Given the description of an element on the screen output the (x, y) to click on. 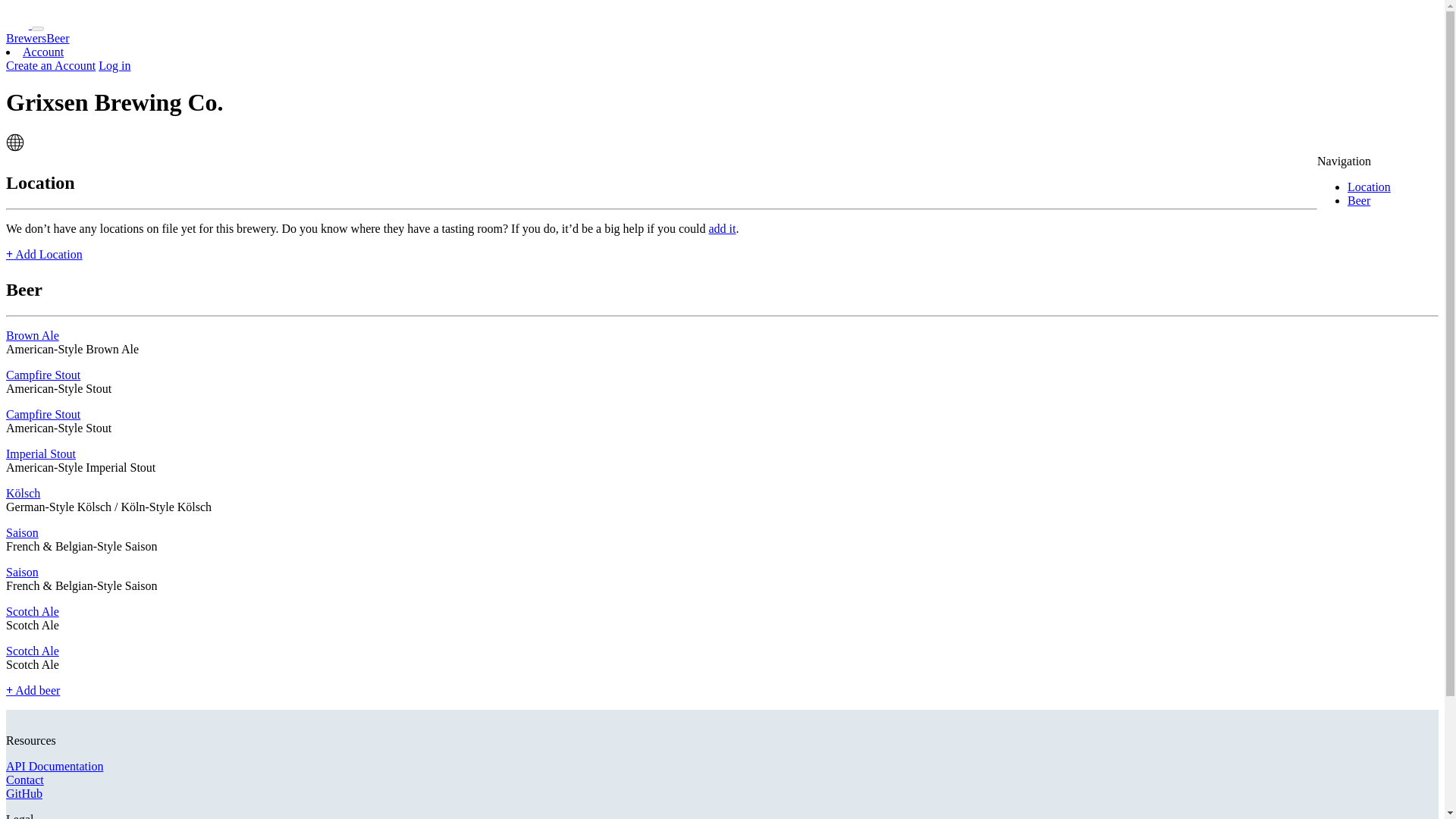
API Documentation (54, 766)
add it (721, 228)
Beer (57, 38)
Create an Account (50, 65)
Campfire Stout (42, 374)
GitHub (23, 793)
Scotch Ale (32, 650)
Brown Ale (32, 335)
Saison (22, 532)
Saison (22, 571)
